Given the description of an element on the screen output the (x, y) to click on. 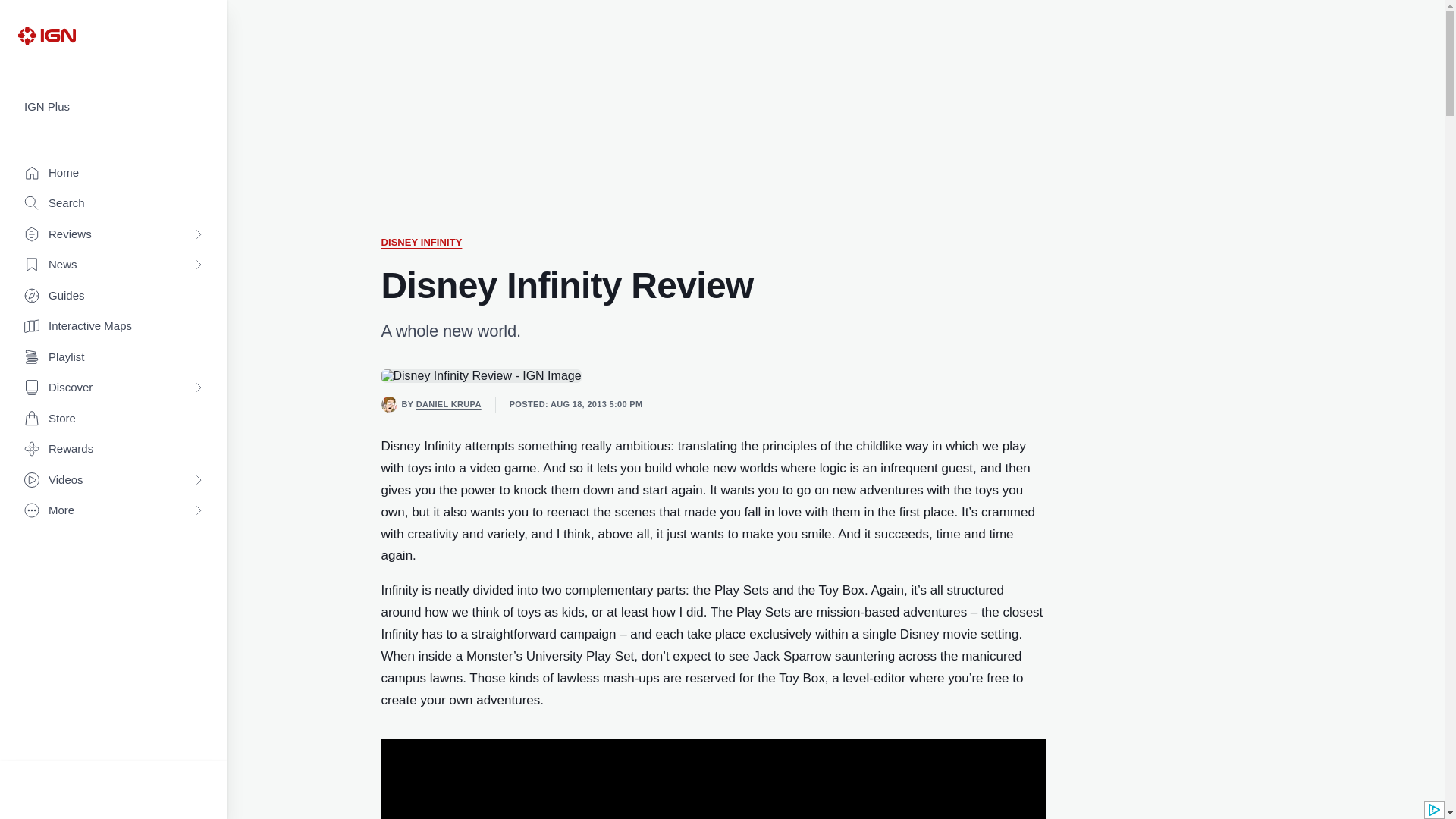
Store (113, 418)
Rewards (113, 449)
Discover (113, 387)
Playlist (113, 357)
Playlist (113, 357)
Reviews (113, 234)
Rewards (113, 449)
IGN Logo (46, 35)
Videos (113, 480)
IGN Plus (113, 107)
